Given the description of an element on the screen output the (x, y) to click on. 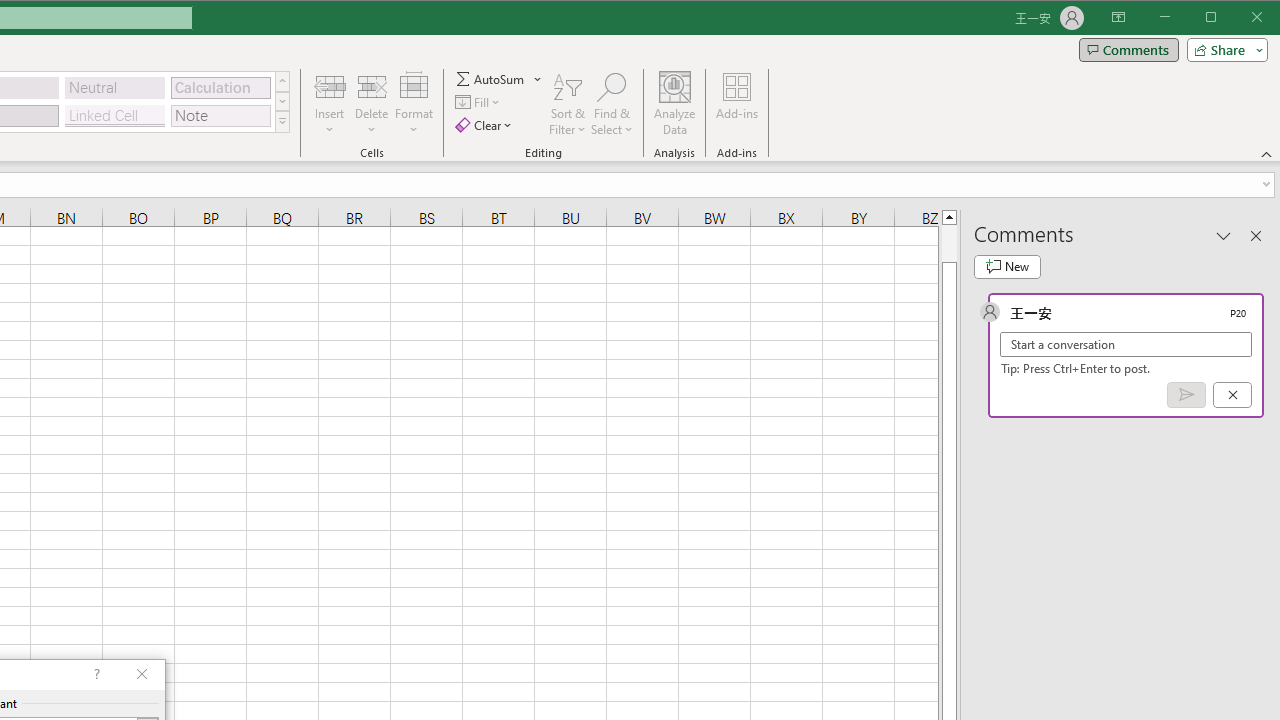
Linked Cell (114, 116)
Row Down (282, 101)
Cancel (1232, 395)
Fill (478, 101)
Sum (491, 78)
Task Pane Options (1224, 235)
Row up (282, 81)
Cell Styles (282, 121)
Calculation (220, 88)
Sort & Filter (567, 104)
